Given the description of an element on the screen output the (x, y) to click on. 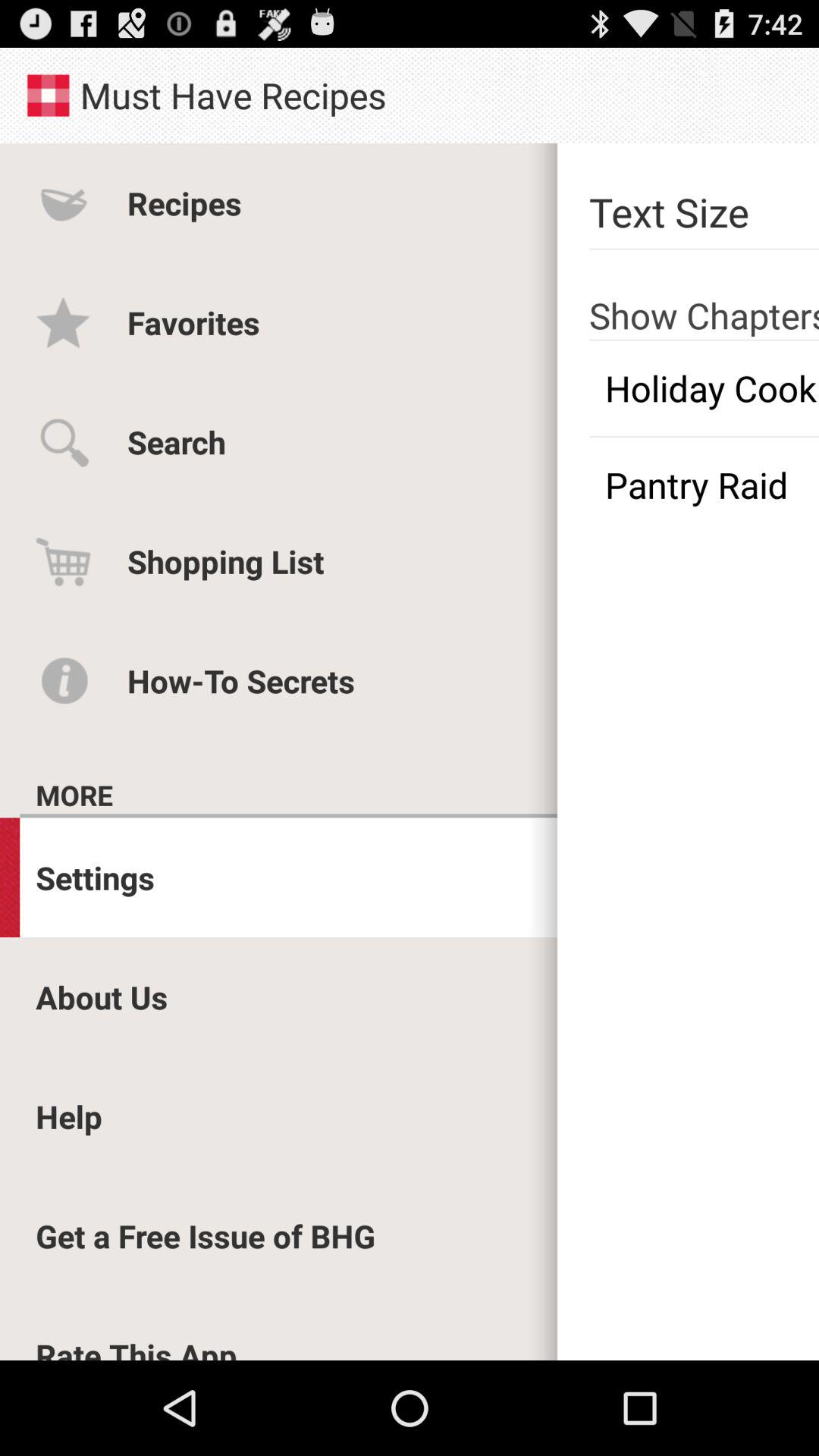
click item below holiday cooking icon (704, 484)
